Given the description of an element on the screen output the (x, y) to click on. 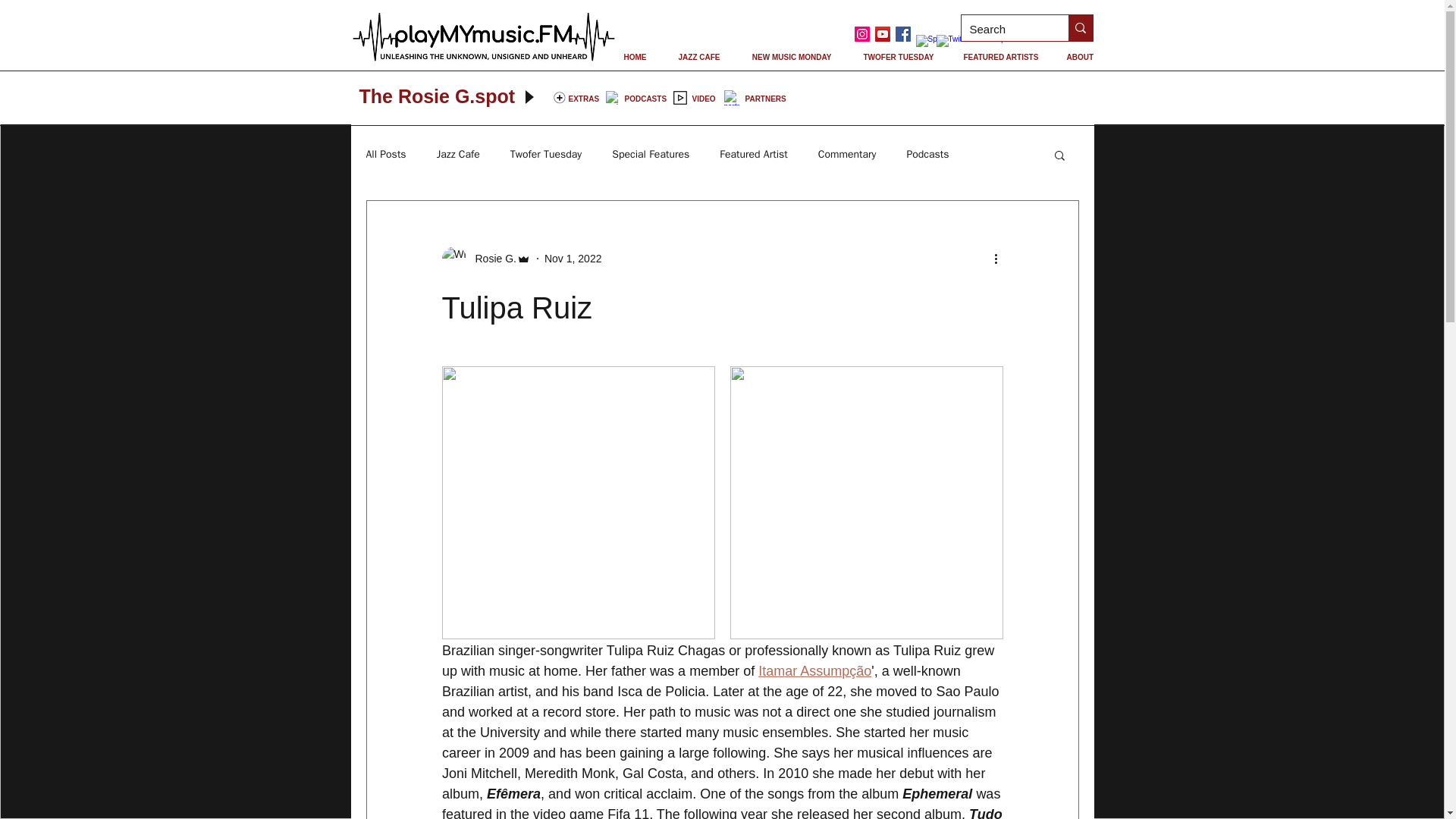
Nov 1, 2022 (573, 257)
Jazz Cafe (458, 154)
Featured Artist (753, 154)
FEATURED ARTISTS (999, 57)
JAZZ CAFE (698, 57)
partners 50px.png (730, 97)
All Posts (385, 154)
Commentary (847, 154)
HOME (635, 57)
TWOFER TUESDAY (897, 57)
Special Features (649, 154)
PODCASTS (645, 99)
Podcasts (927, 154)
VIDEO (702, 99)
Twofer Tuesday (546, 154)
